Given the description of an element on the screen output the (x, y) to click on. 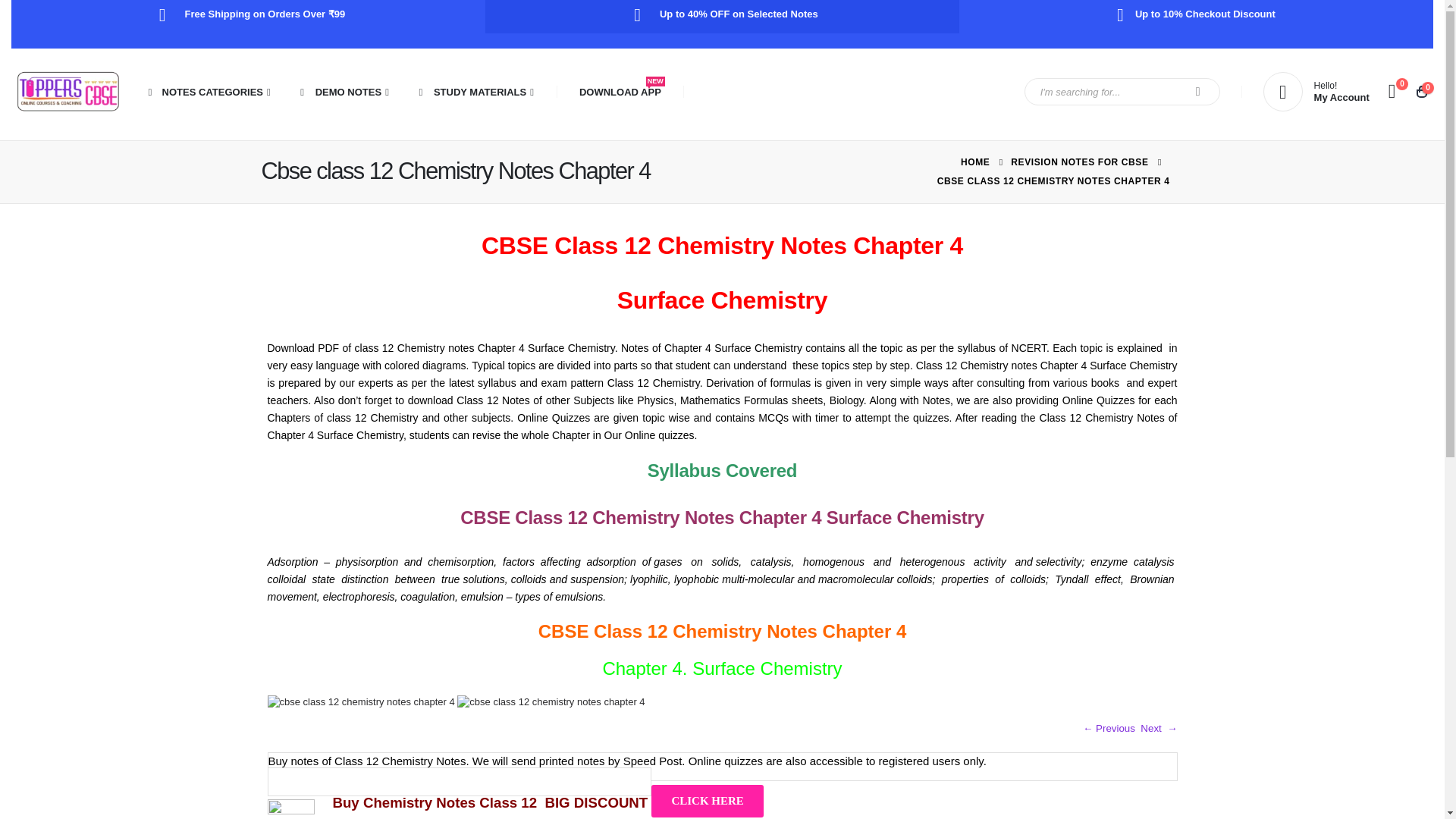
Search (1198, 91)
DEMO NOTES (342, 91)
Go to Home Page (975, 162)
STUDY MATERIALS (473, 91)
NOTES CATEGORIES (207, 91)
Wishlist (1391, 91)
